Given the description of an element on the screen output the (x, y) to click on. 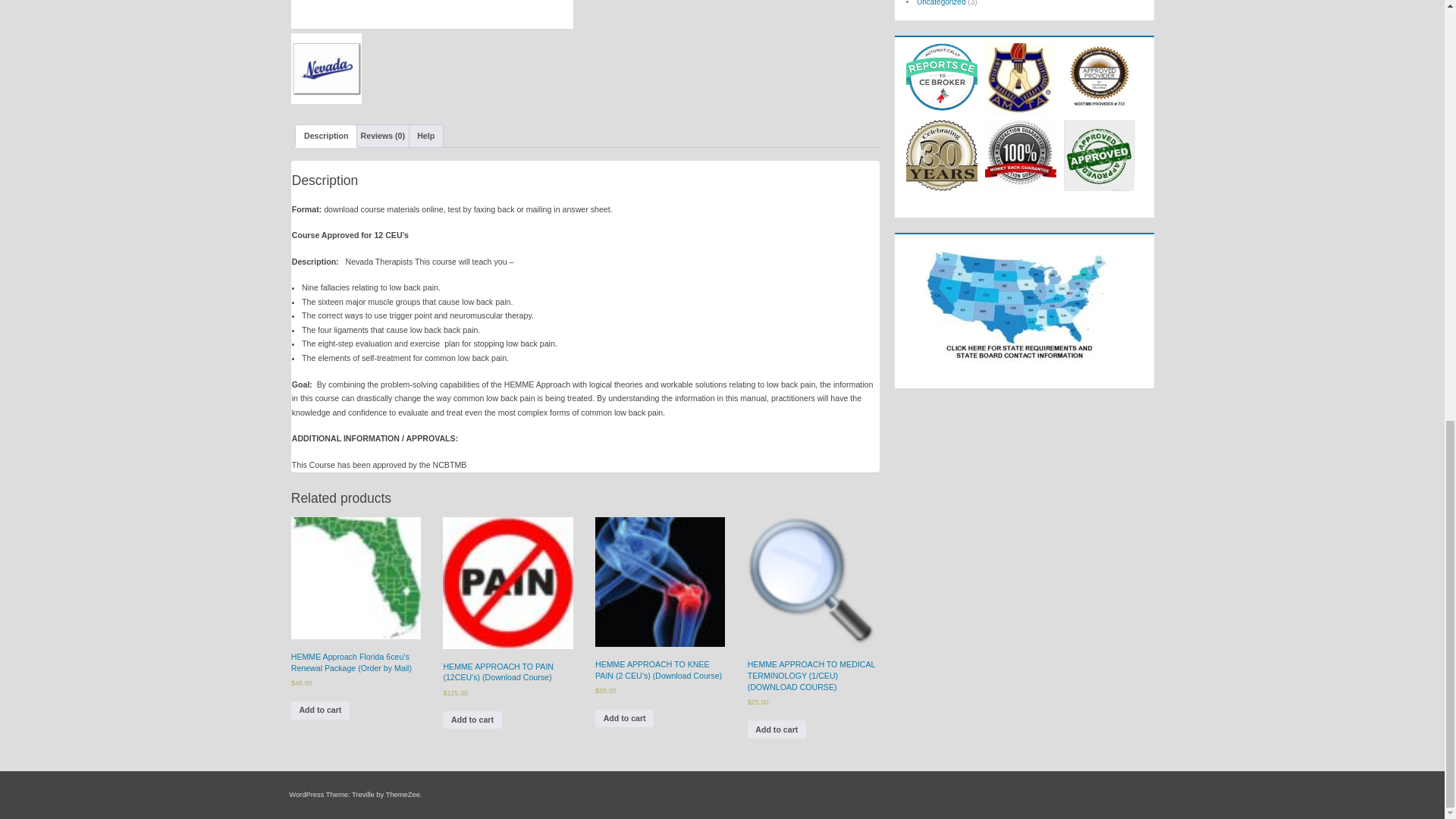
NV (432, 14)
Add to cart (320, 710)
NV (326, 68)
Description (325, 136)
